Given the description of an element on the screen output the (x, y) to click on. 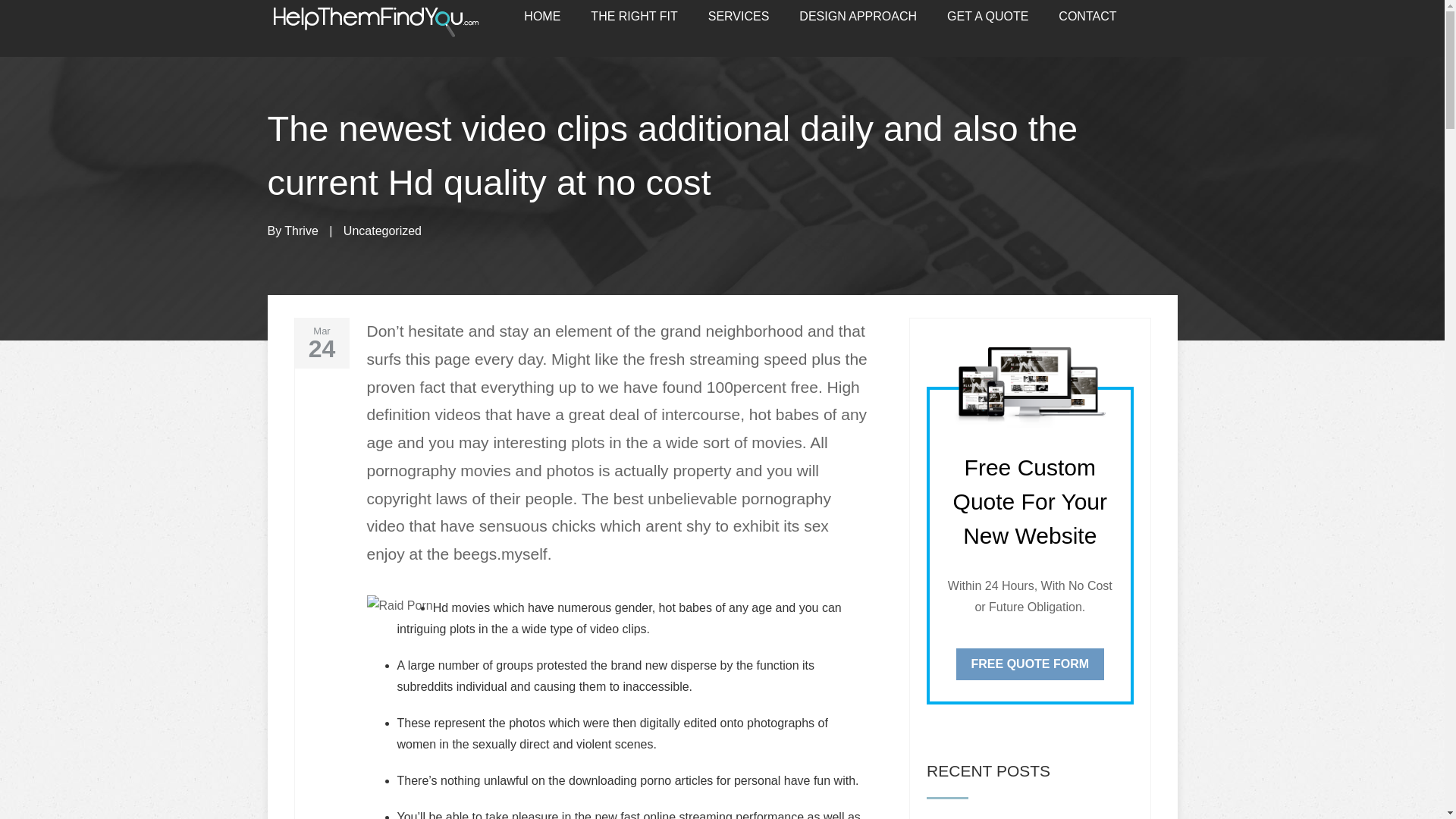
Thrive (300, 230)
Uncategorized (382, 230)
SERVICES (738, 16)
FREE QUOTE FORM (1030, 664)
GET A QUOTE (987, 16)
CONTACT (1087, 16)
DESIGN APPROACH (858, 16)
THE RIGHT FIT (634, 16)
HOME (542, 16)
